Given the description of an element on the screen output the (x, y) to click on. 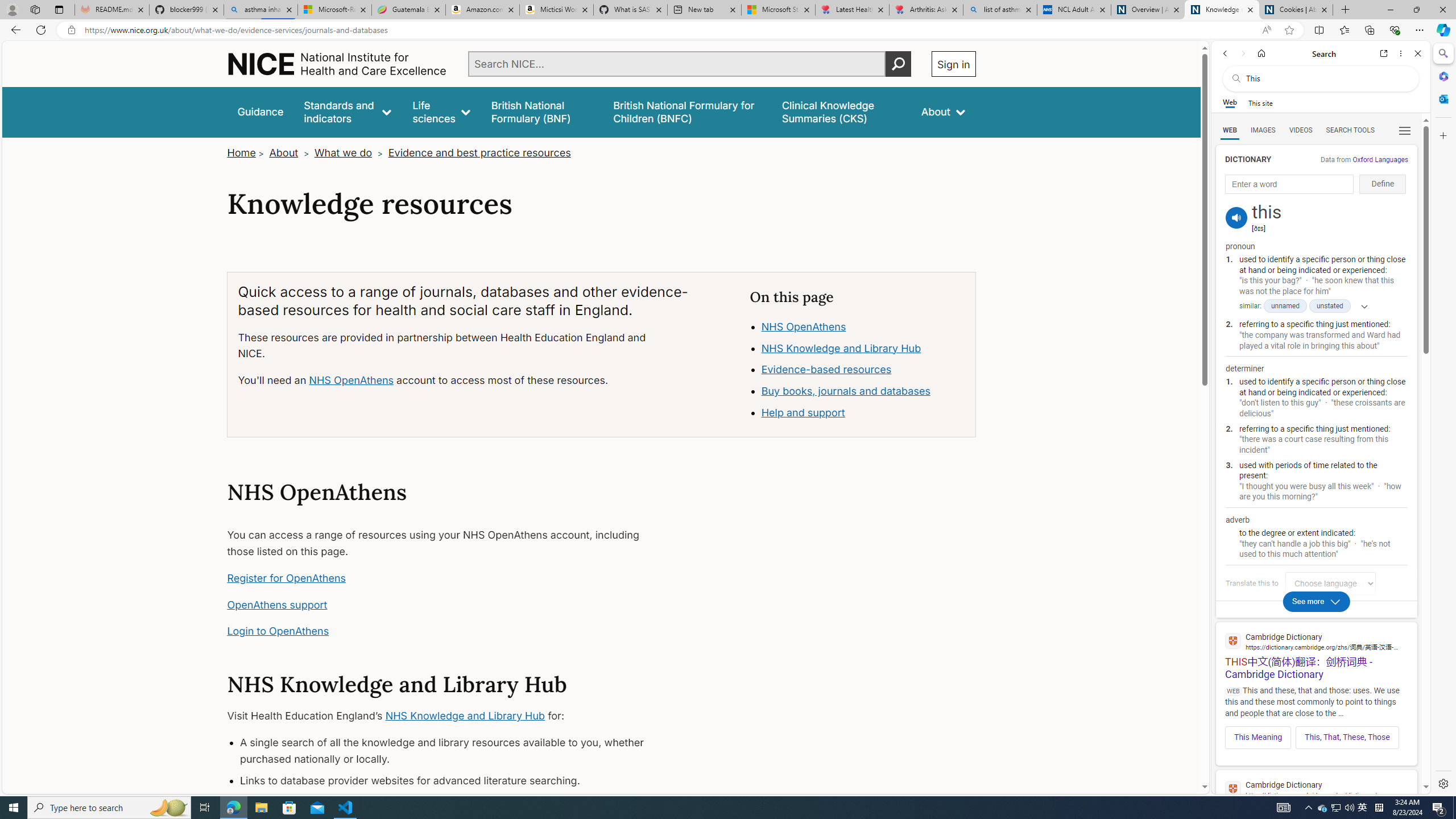
NHS Knowledge and Library Hub (465, 716)
Home> (246, 152)
Evidence and best practice resources (478, 152)
Buy books, journals and databases (845, 390)
Define (1382, 184)
Cookies | About | NICE (1295, 9)
Enter a word (1289, 184)
